Given the description of an element on the screen output the (x, y) to click on. 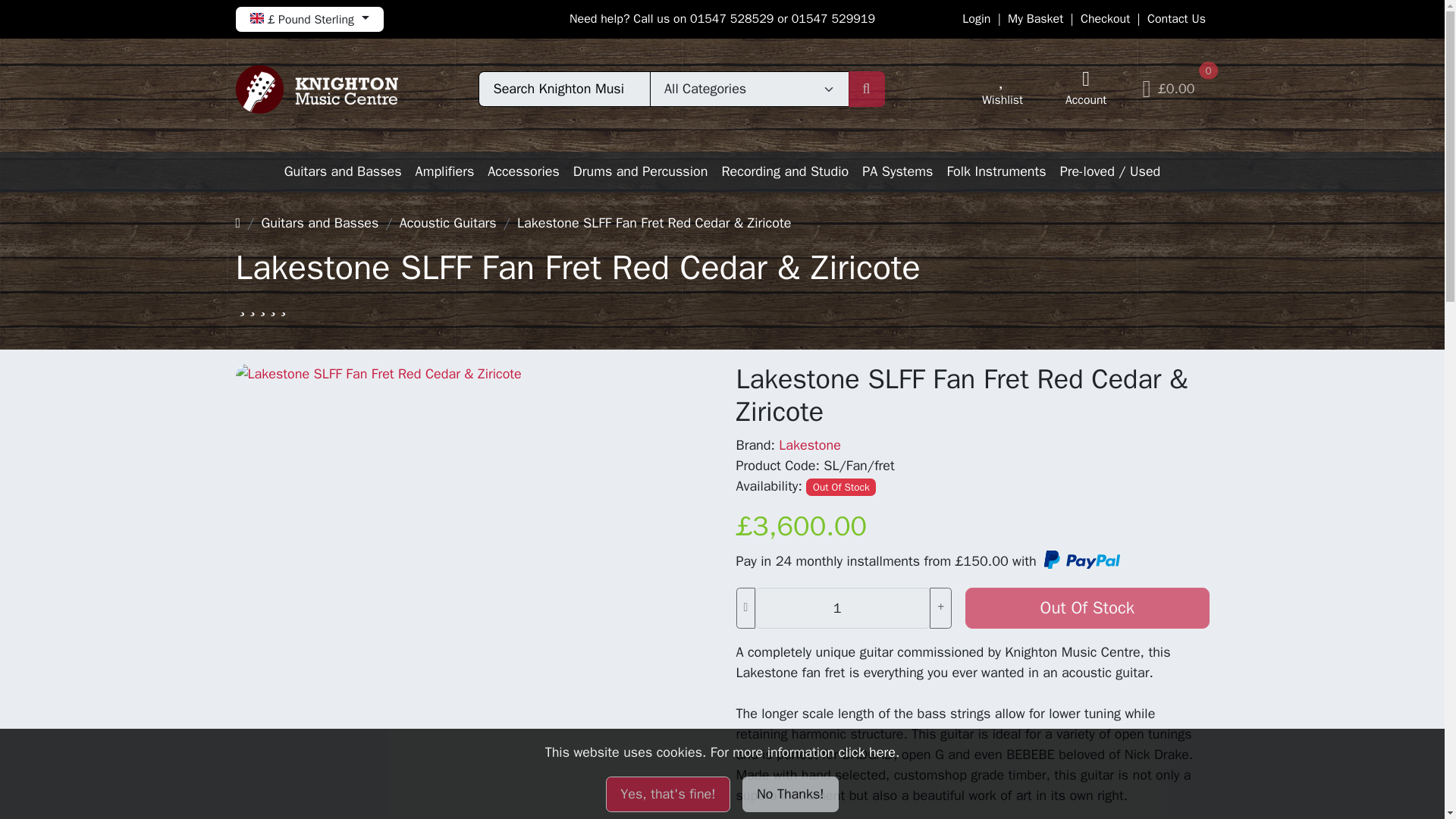
Amplifiers (445, 171)
Knighton Music Centre (315, 89)
Guitars and Basses (343, 171)
Checkout (1104, 18)
Account (1086, 89)
1 (842, 608)
Accessories (523, 171)
My Basket (1034, 18)
0Wishlist  (1002, 89)
Currency (308, 18)
Login (976, 18)
How PayPal Works (1080, 560)
Wishlist (1002, 89)
01547 528529 (731, 18)
Contact Us (1176, 18)
